Given the description of an element on the screen output the (x, y) to click on. 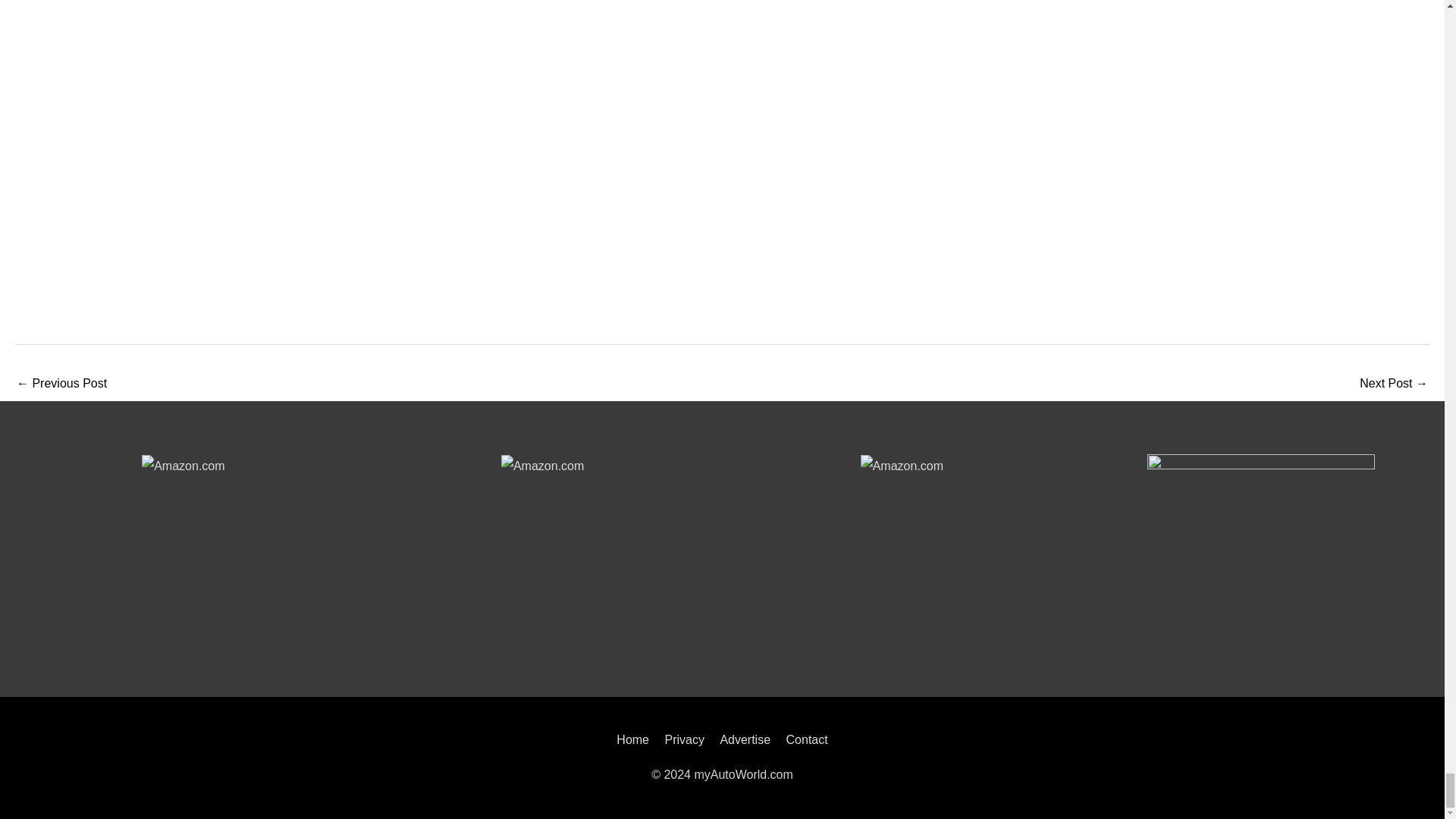
Privacy (684, 739)
Contact (804, 739)
Bentley Mulsanne Grand Limousine by Mulliner (61, 384)
Home (635, 739)
Advertise (744, 739)
2022 Chevrolet Camaro COPO Big Block (1393, 384)
